Given the description of an element on the screen output the (x, y) to click on. 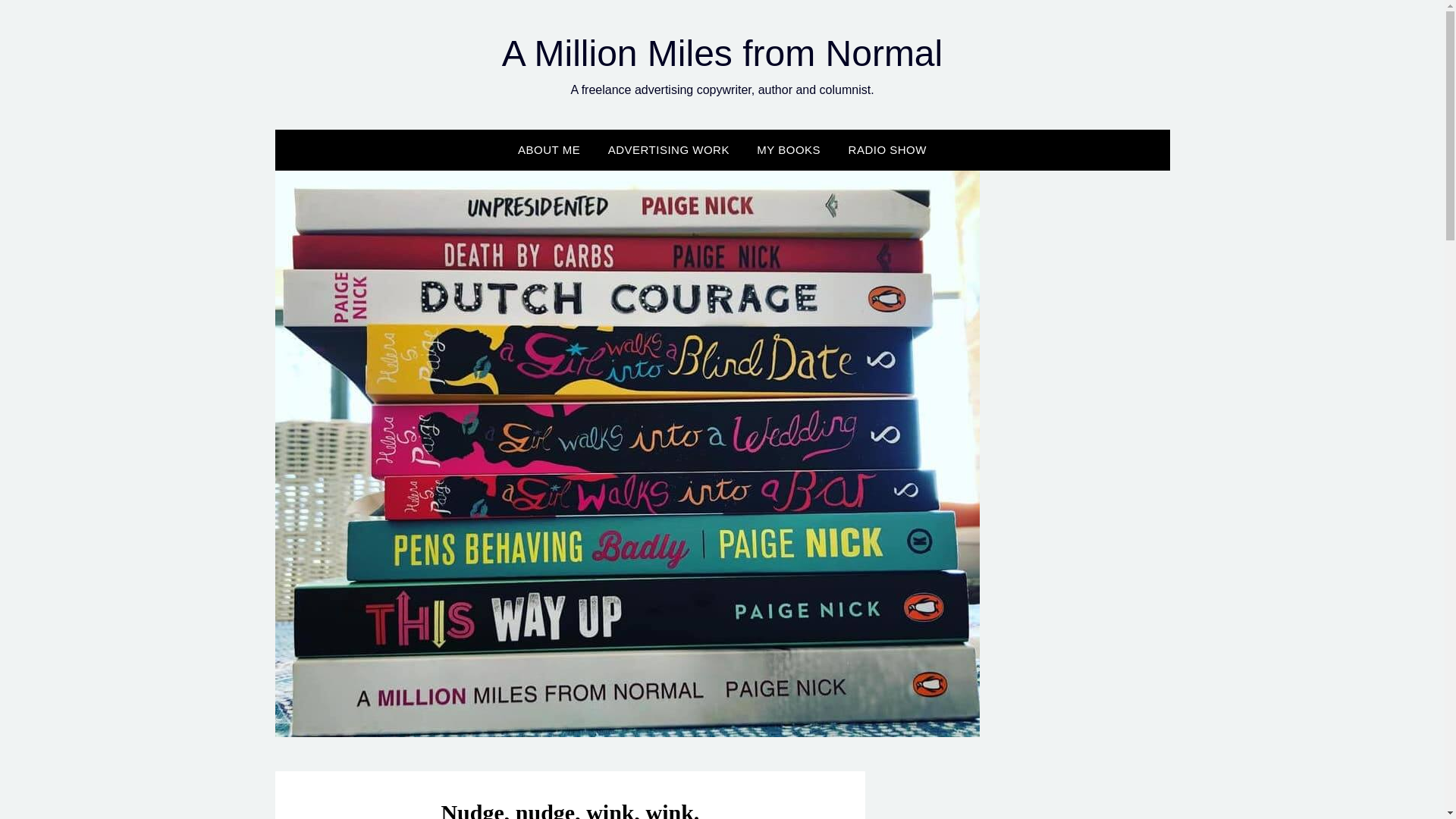
MY BOOKS (788, 149)
ADVERTISING WORK (668, 149)
A Million Miles from Normal (722, 53)
RADIO SHOW (887, 149)
ABOUT ME (548, 149)
